Given the description of an element on the screen output the (x, y) to click on. 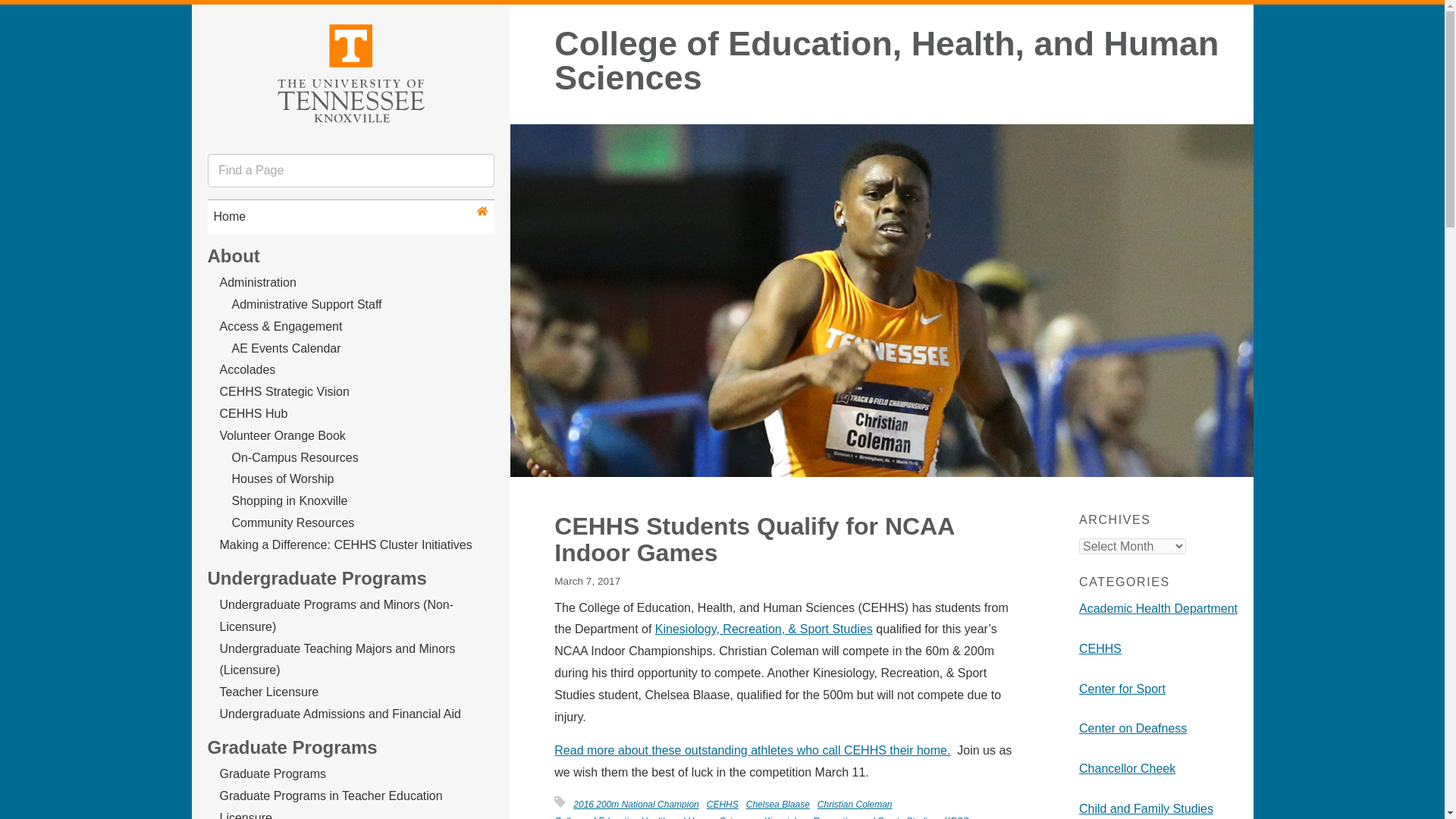
CEHHS Strategic Vision (284, 391)
Shopping in Knoxville (289, 500)
Administrative Support Staff (306, 304)
Skip to content (204, 17)
The University of Tennessee, Knoxville (349, 70)
Graduate Programs in Teacher Education Licensure (330, 804)
Administration (258, 282)
On-Campus Resources (294, 457)
Skip to content (204, 17)
Graduate Programs (272, 773)
Accolades (247, 369)
AE Events Calendar (285, 348)
Making a Difference: CEHHS Cluster Initiatives (345, 544)
